Given the description of an element on the screen output the (x, y) to click on. 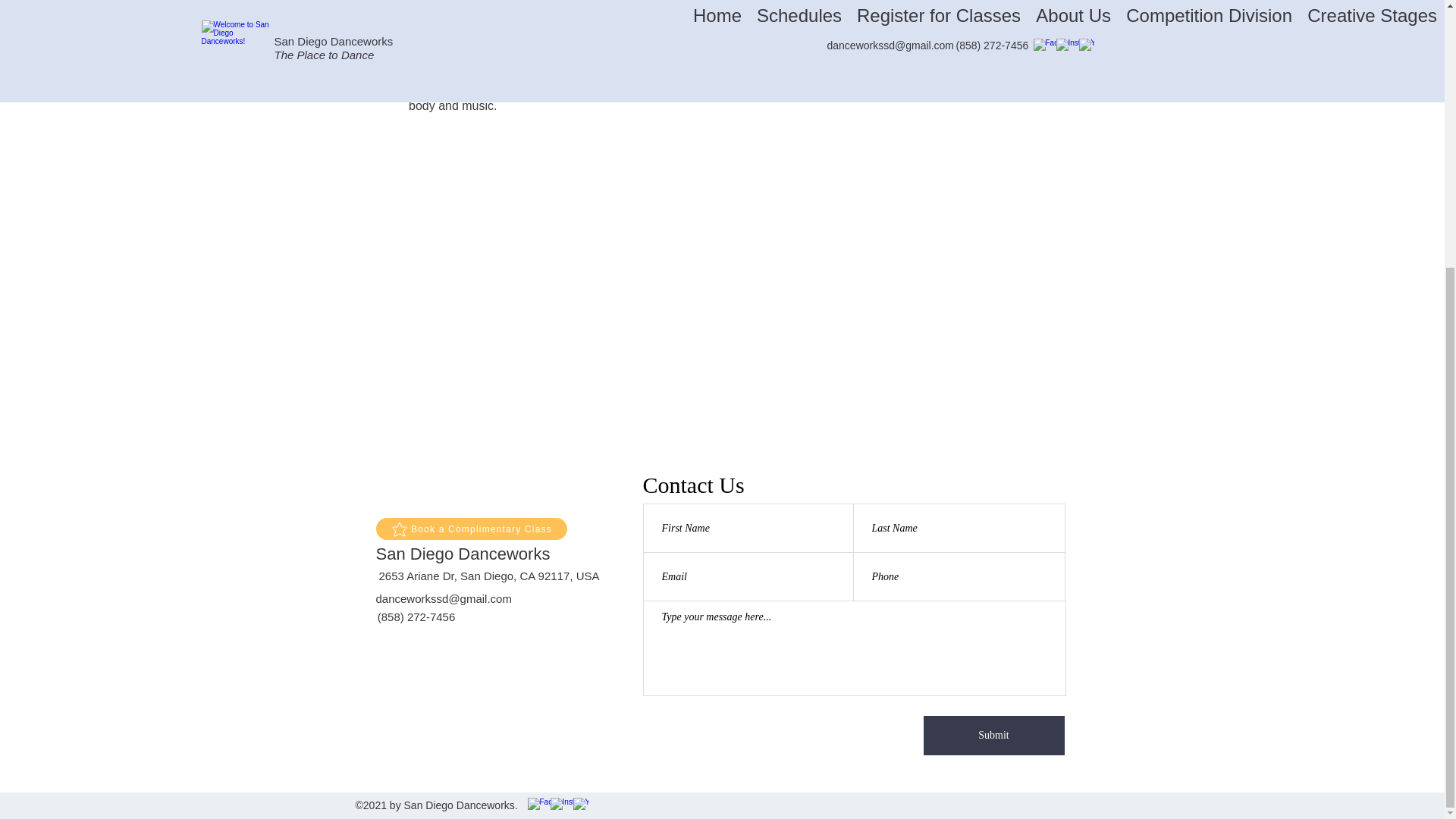
San Diego Danceworks (462, 553)
Book a Complimentary Class (471, 528)
Submit (993, 735)
